Given the description of an element on the screen output the (x, y) to click on. 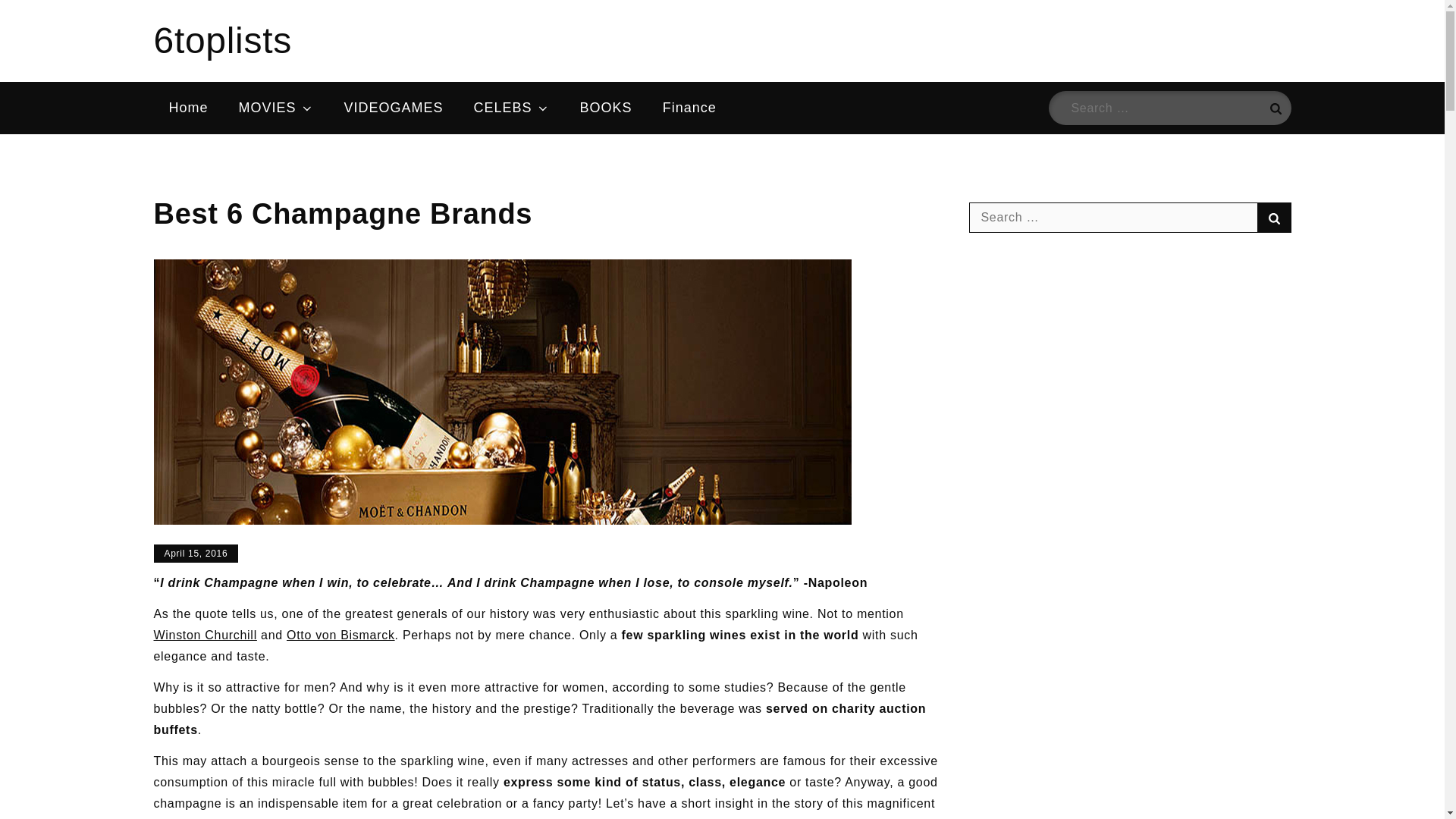
April 15, 2016 (195, 553)
Otto von Bismarck (340, 634)
MOVIES (276, 107)
6toplists (221, 40)
VIDEOGAMES (393, 107)
Finance (689, 107)
Home (187, 107)
CELEBS (511, 107)
Search (1274, 107)
BOOKS (605, 107)
Winston Churchill (204, 634)
